Given the description of an element on the screen output the (x, y) to click on. 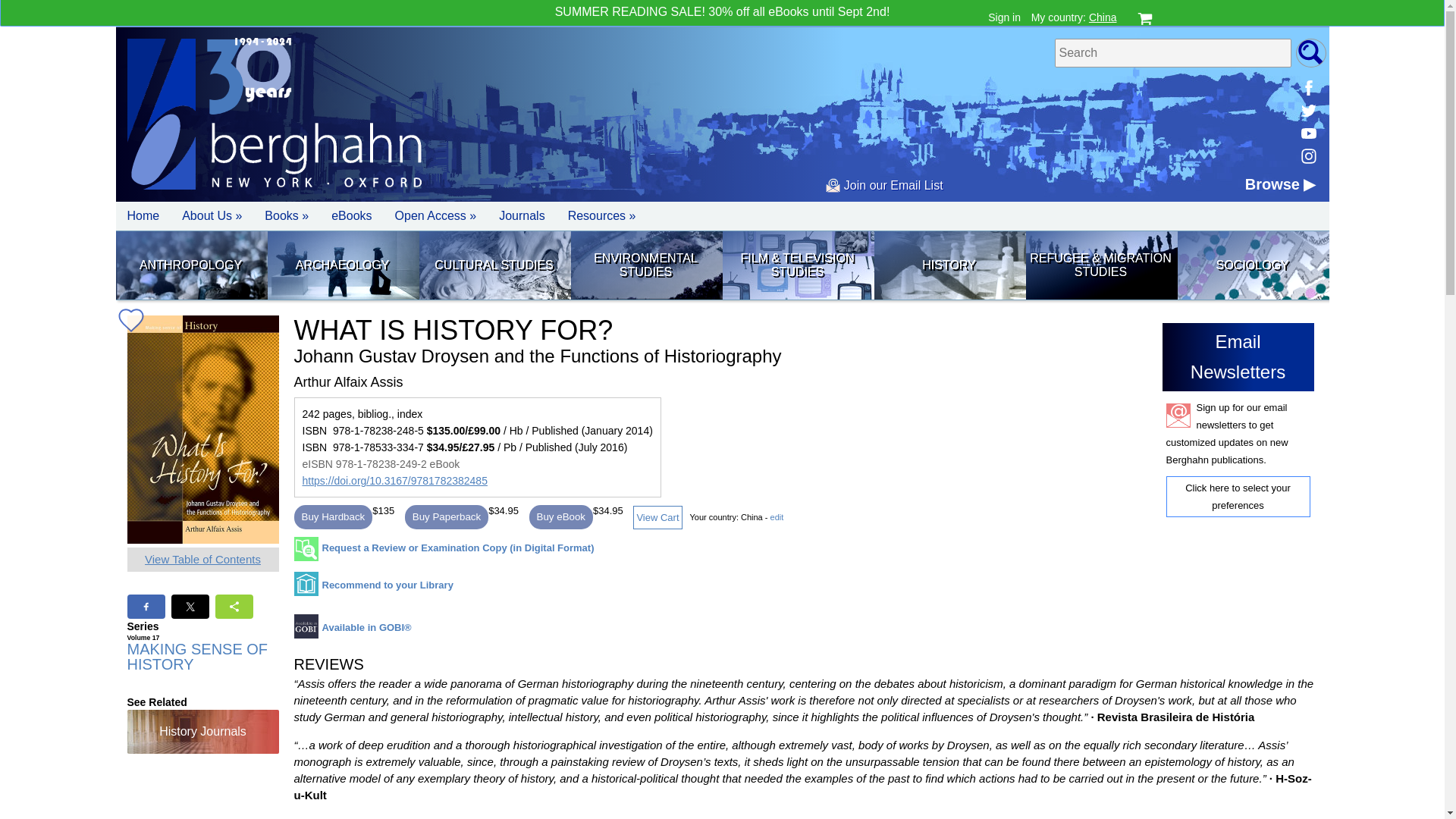
go (1310, 52)
Film Studies (797, 265)
Archaeology (341, 264)
Join our Email List (883, 185)
Browse (1280, 184)
Anthropology (189, 264)
Available in GOBI (353, 631)
Environmental Studies (645, 265)
Berghahn Books on Instagram (1308, 155)
History (948, 264)
Sociology (1251, 264)
Berghahn Books on Facebook (1308, 87)
Berghahn Books on Youtube (1308, 133)
Cultural Studies (494, 264)
history Journals (203, 731)
